Given the description of an element on the screen output the (x, y) to click on. 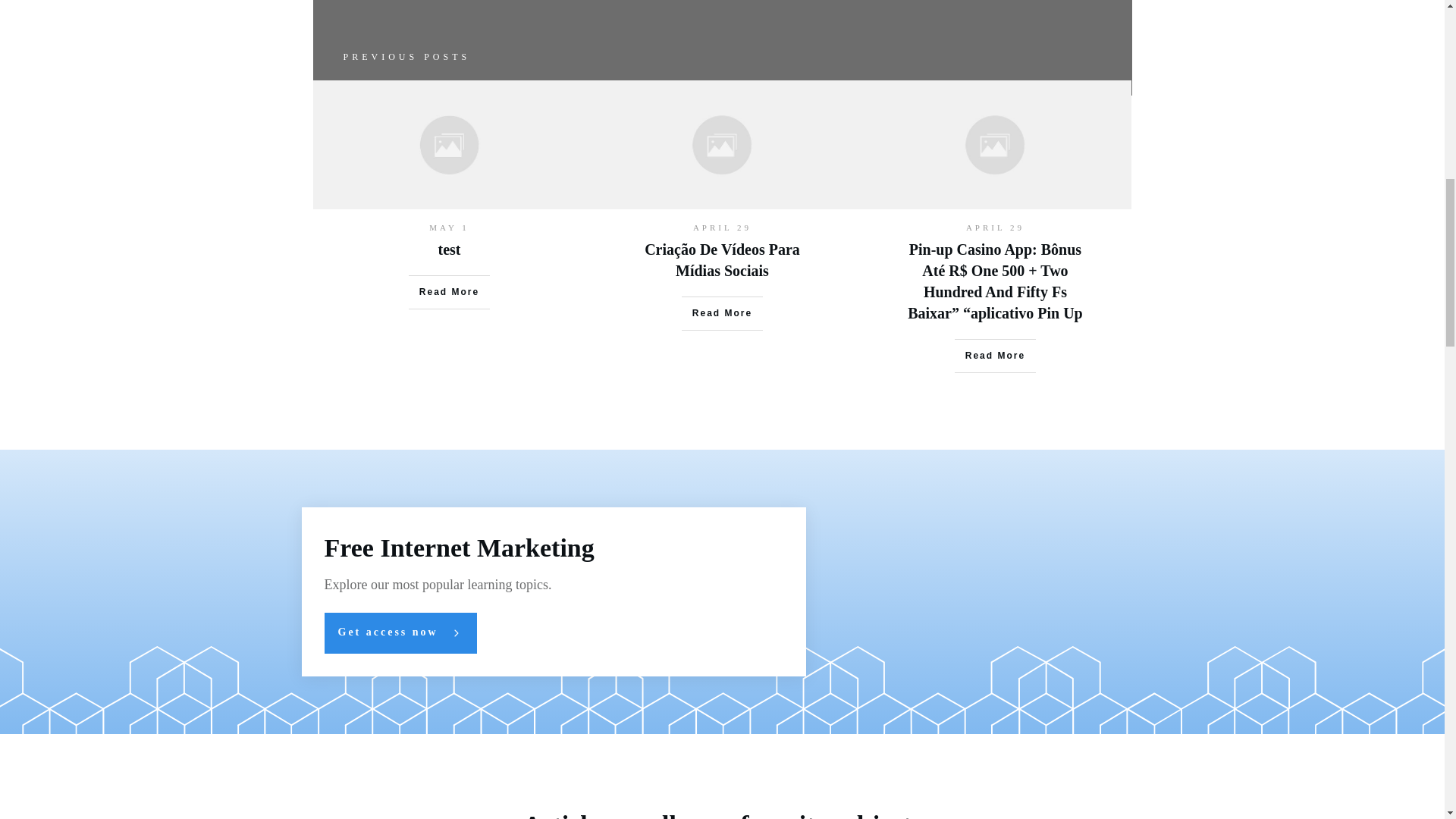
Get access now (400, 632)
Read More (995, 355)
test (449, 248)
Read More (721, 313)
test (449, 248)
Read More (449, 291)
